Given the description of an element on the screen output the (x, y) to click on. 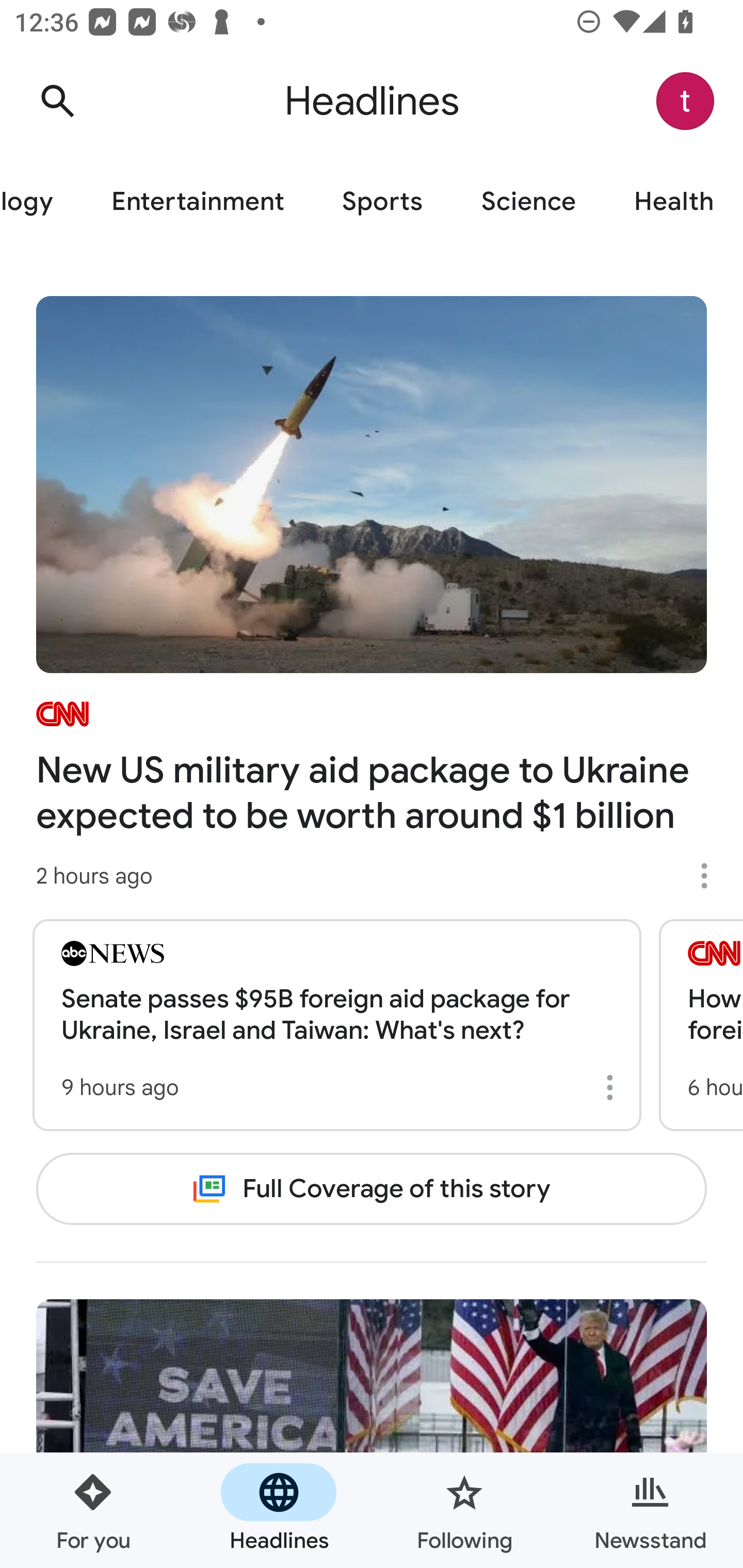
Search (57, 100)
Technology (40, 202)
Entertainment (197, 202)
Sports (382, 202)
Science (527, 202)
Health (673, 202)
More options (711, 875)
More options (613, 1086)
Full Coverage of this story (371, 1188)
For you (92, 1509)
Headlines (278, 1509)
Following (464, 1509)
Newsstand (650, 1509)
